Given the description of an element on the screen output the (x, y) to click on. 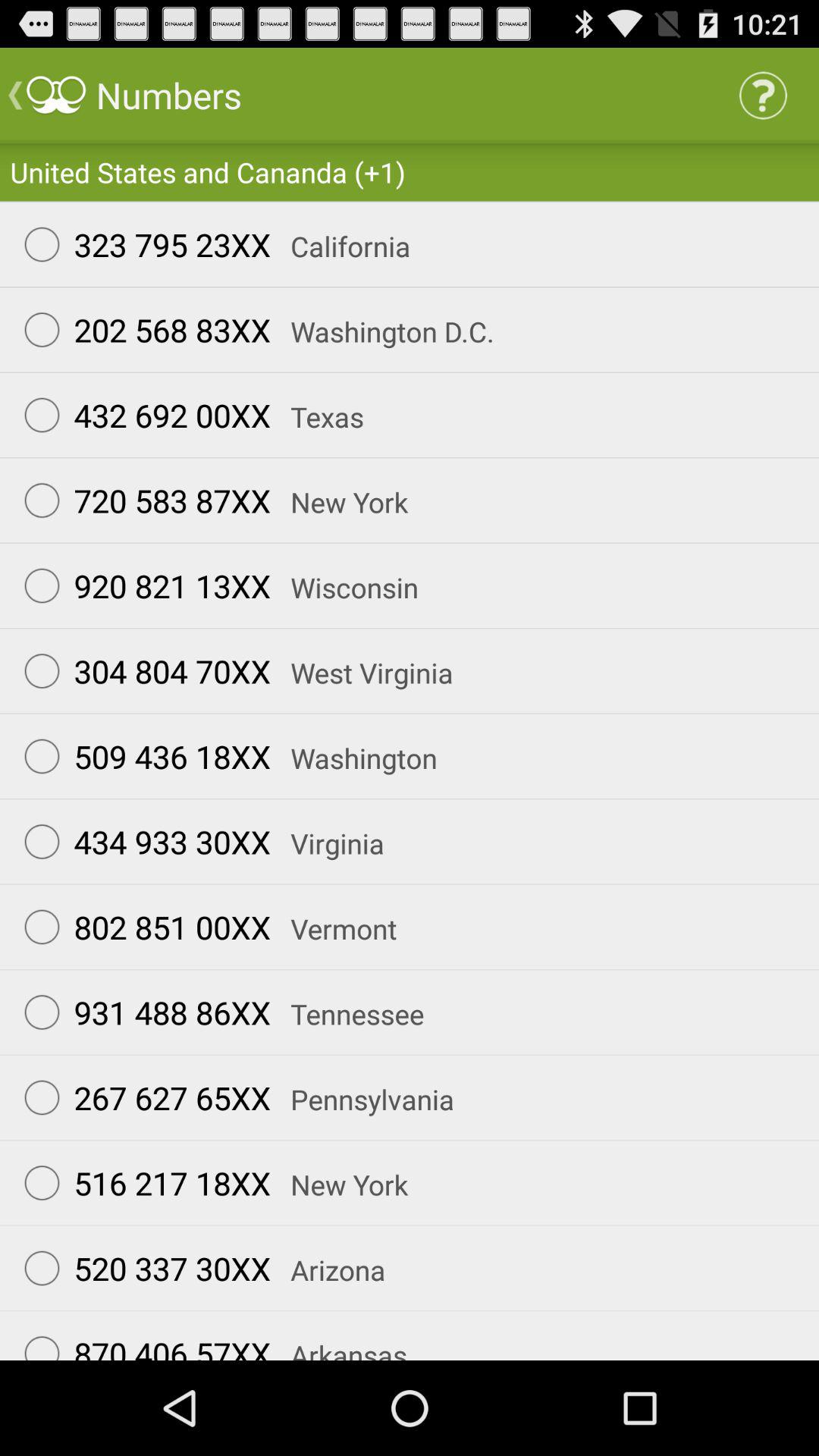
turn on the texas icon (317, 416)
